Given the description of an element on the screen output the (x, y) to click on. 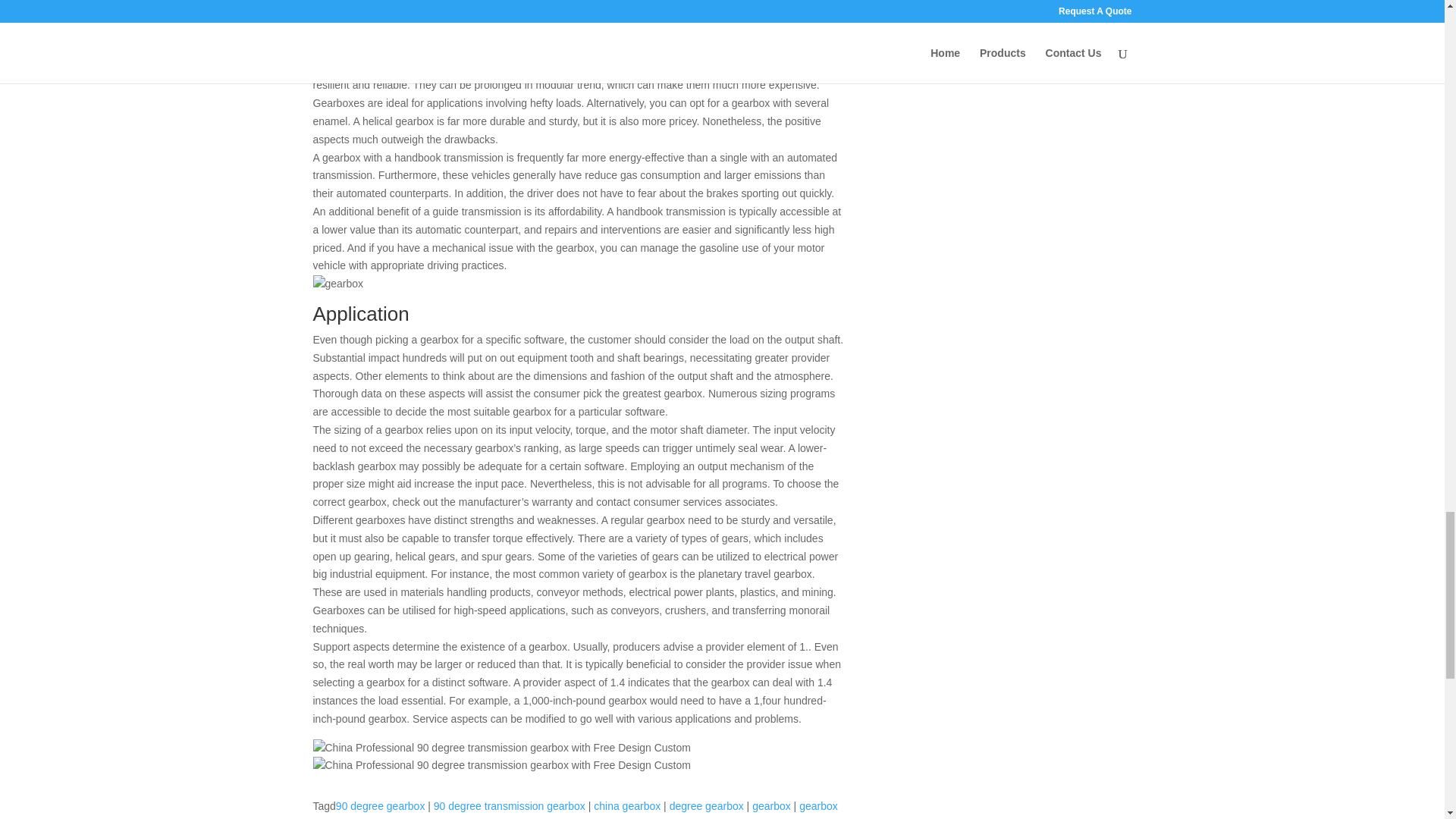
china gearbox (627, 806)
gearbox china (402, 818)
90 degree gearbox (380, 806)
gearbox with (668, 818)
90 degree transmission gearbox (509, 806)
gearbox 90 degree (575, 809)
degree gearbox (706, 806)
